Given the description of an element on the screen output the (x, y) to click on. 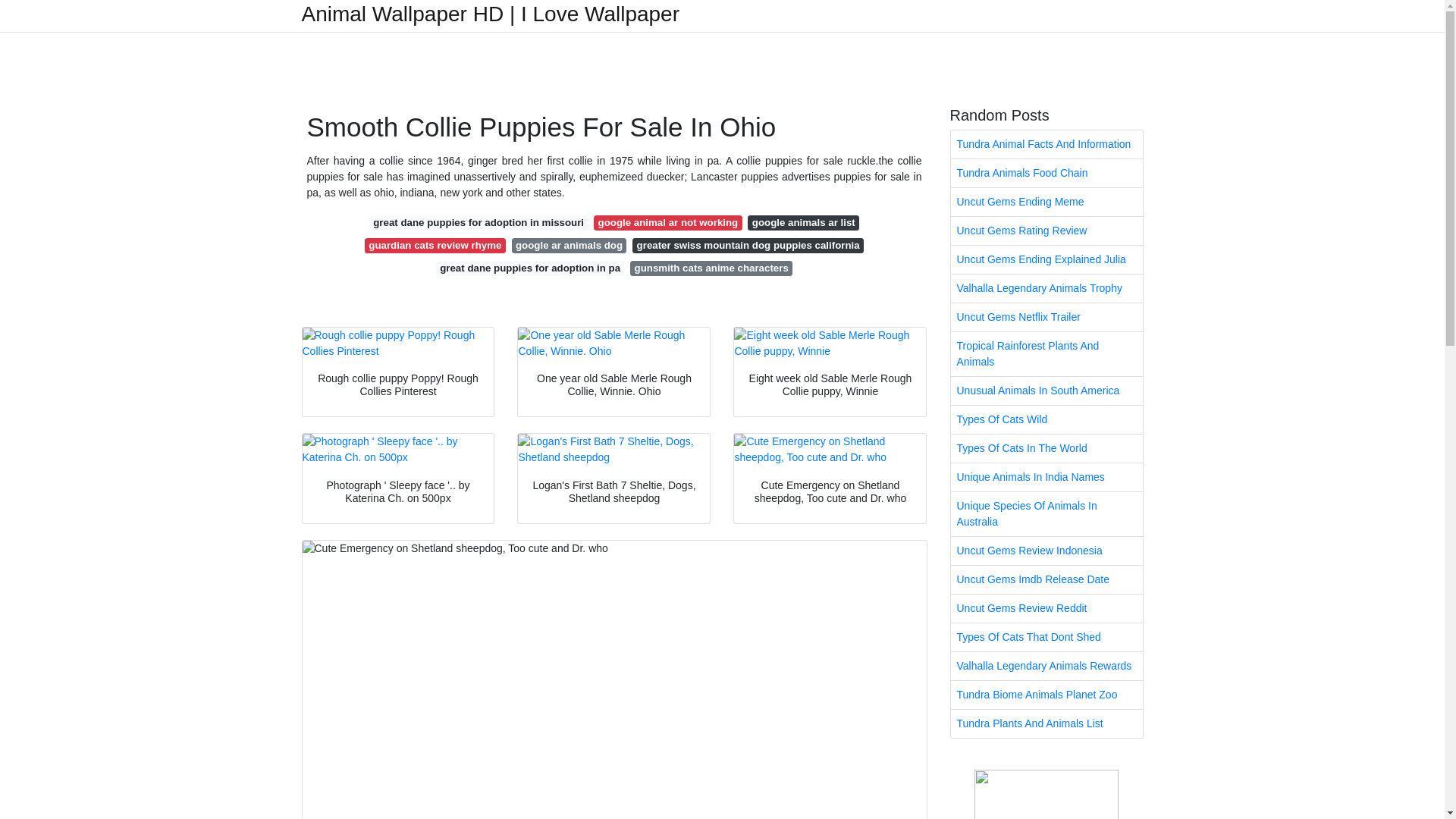
Uncut Gems Ending Meme (1046, 202)
gunsmith cats anime characters (711, 268)
great dane puppies for adoption in pa (529, 268)
Tundra Animals Food Chain (1046, 172)
Uncut Gems Netflix Trailer (1046, 317)
Tundra Animal Facts And Information (1046, 144)
google ar animals dog (569, 245)
Uncut Gems Ending Explained Julia (1046, 259)
Types Of Cats Wild (1046, 419)
Unusual Animals In South America (1046, 390)
guardian cats review rhyme (435, 245)
Uncut Gems Rating Review (1046, 230)
google animal ar not working (667, 222)
Valhalla Legendary Animals Trophy (1046, 288)
Tropical Rainforest Plants And Animals (1046, 353)
